Given the description of an element on the screen output the (x, y) to click on. 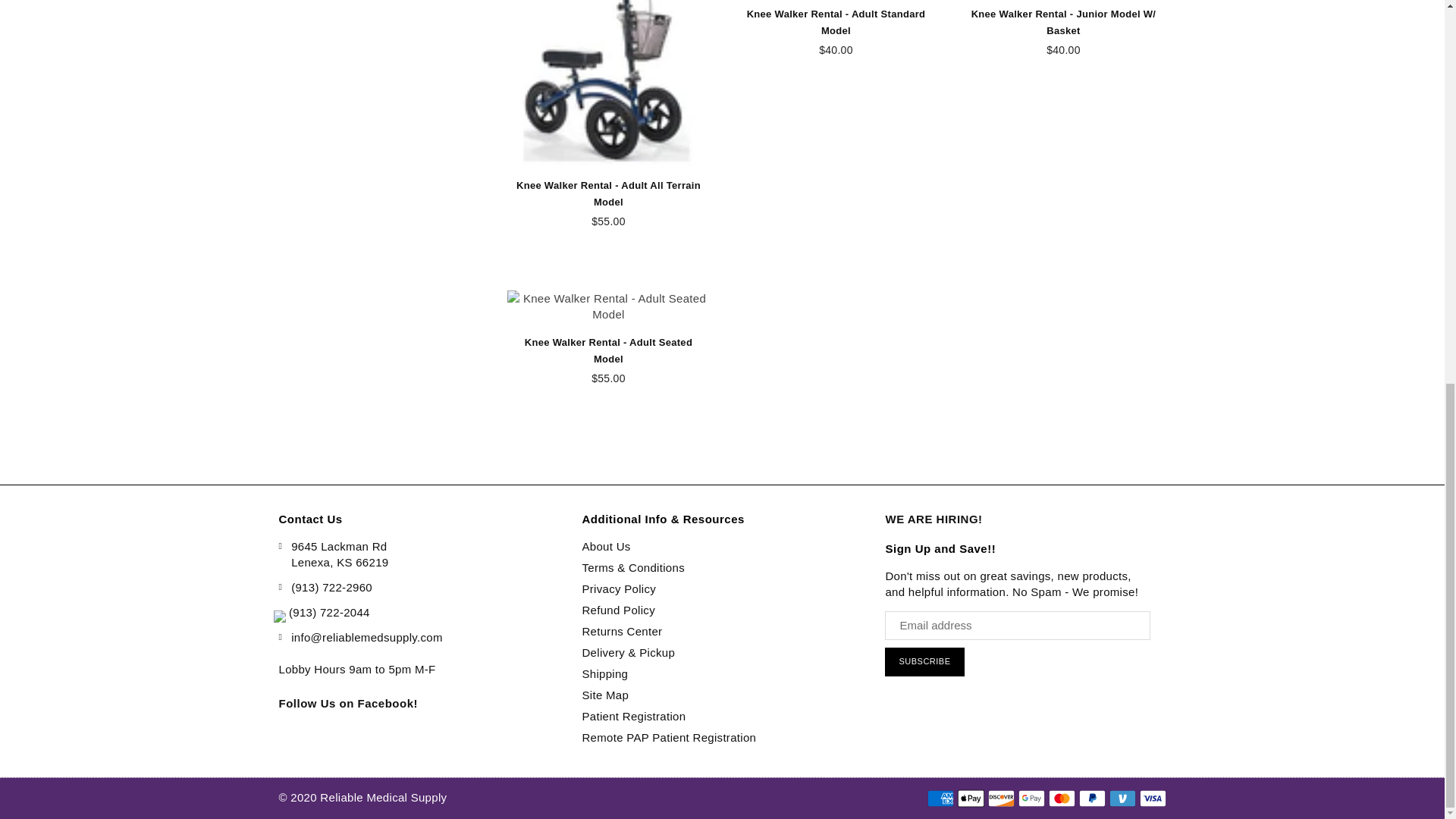
Venmo (1121, 798)
Visa (1152, 798)
Discover (1000, 798)
Google Pay (1030, 798)
Apple Pay (970, 798)
PayPal (1091, 798)
American Express (939, 798)
Mastercard (1061, 798)
